Given the description of an element on the screen output the (x, y) to click on. 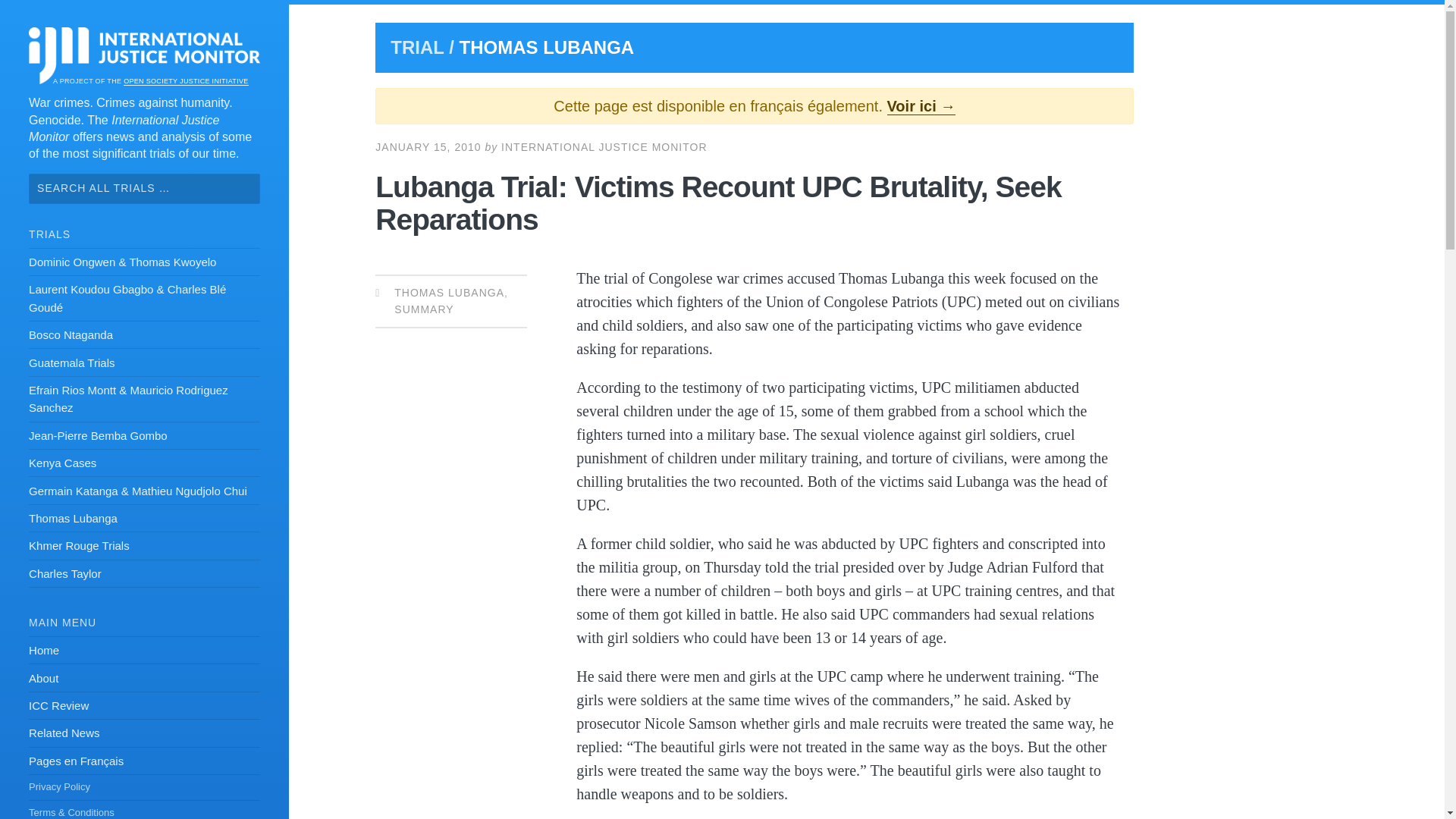
Charles Taylor (144, 574)
Khmer Rouge Trials (144, 545)
OPEN SOCIETY JUSTICE INITIATIVE (185, 80)
Guatemala Trials (144, 361)
Thomas Lubanga (144, 518)
Kenya Cases (144, 462)
Jean-Pierre Bemba Gombo (144, 435)
Bosco Ntaganda (144, 334)
Home (144, 650)
Search (34, 17)
